Given the description of an element on the screen output the (x, y) to click on. 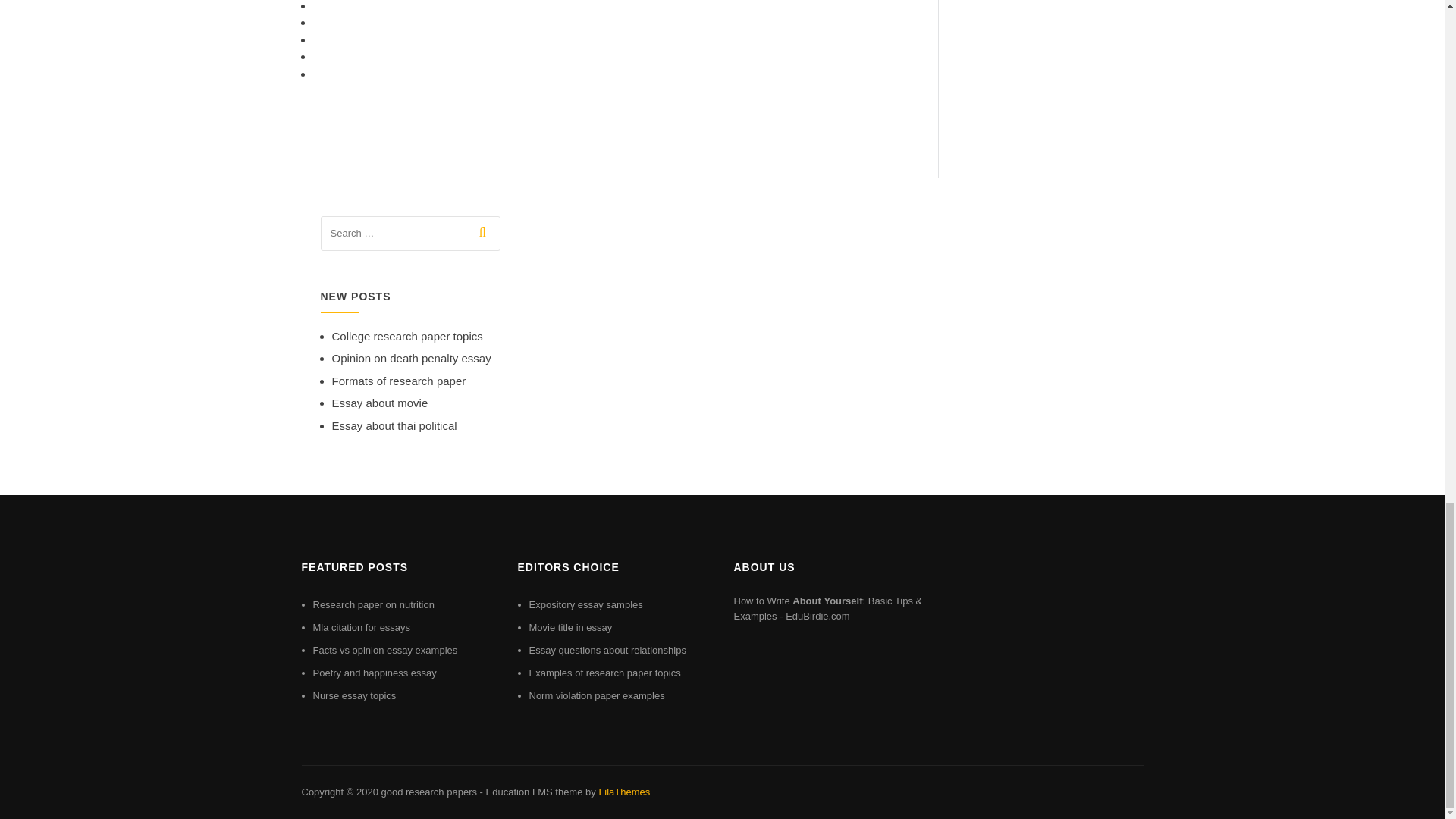
College research paper topics (407, 336)
Opinion on death penalty essay (411, 358)
Mla citation for essays (361, 627)
Expository essay samples (586, 604)
Essay about movie (379, 402)
Formats of research paper (398, 380)
Poetry and happiness essay (374, 672)
Examples of research paper topics (605, 672)
Facts vs opinion essay examples (385, 650)
Norm violation paper examples (597, 695)
